Given the description of an element on the screen output the (x, y) to click on. 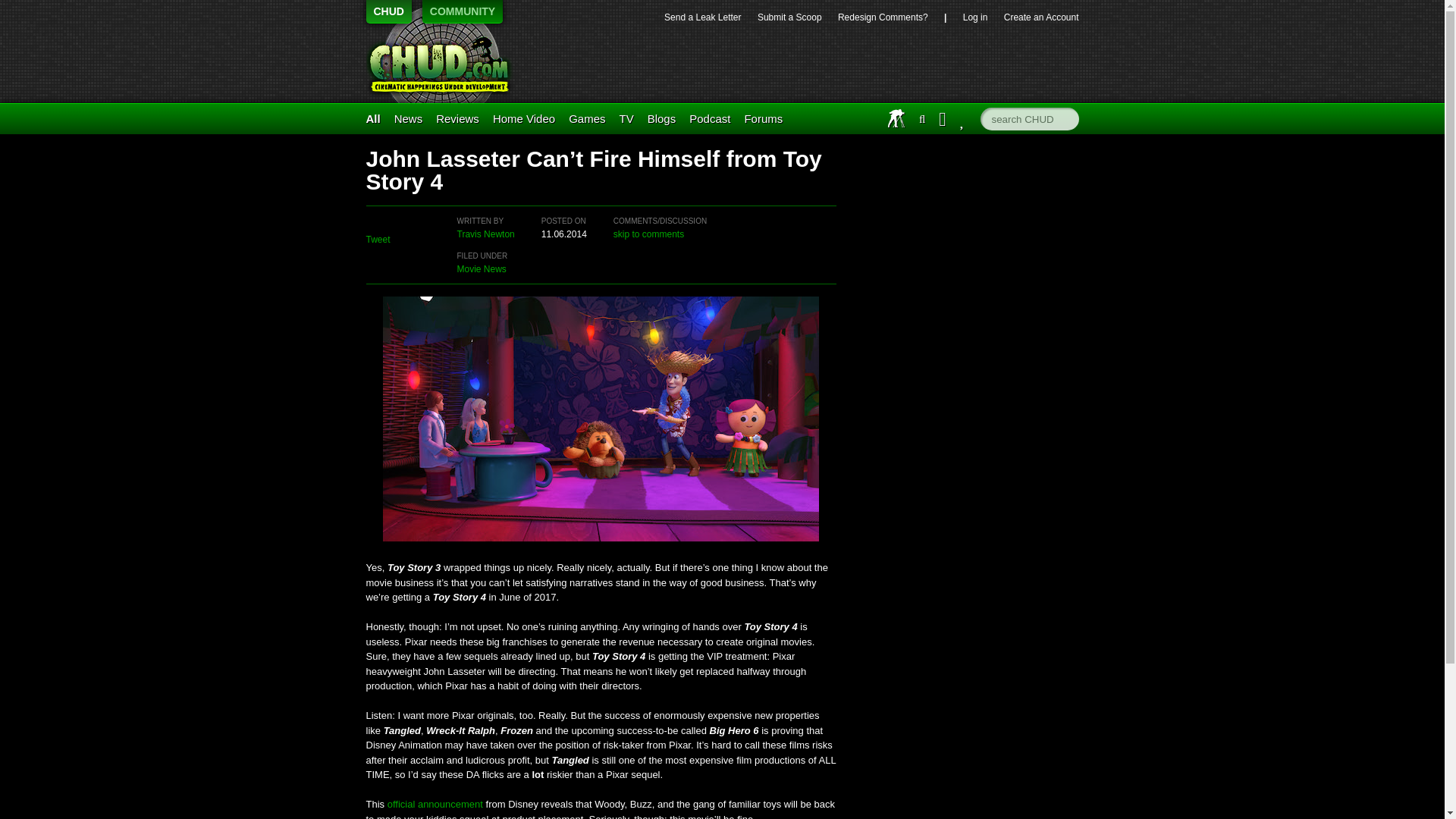
Tweet (377, 239)
Create an Account (1041, 17)
Submit a Scoop (789, 17)
Travis Newton (485, 234)
skip to comments (648, 234)
Reviews (457, 118)
Games (587, 118)
Podcast (709, 118)
Forums (763, 118)
TV (626, 118)
Movie News (481, 268)
THUD is where CHUD discusses television. (626, 118)
Master Control Program (587, 118)
Posts by Travis Newton (485, 234)
Send a Leak Letter (702, 17)
